Given the description of an element on the screen output the (x, y) to click on. 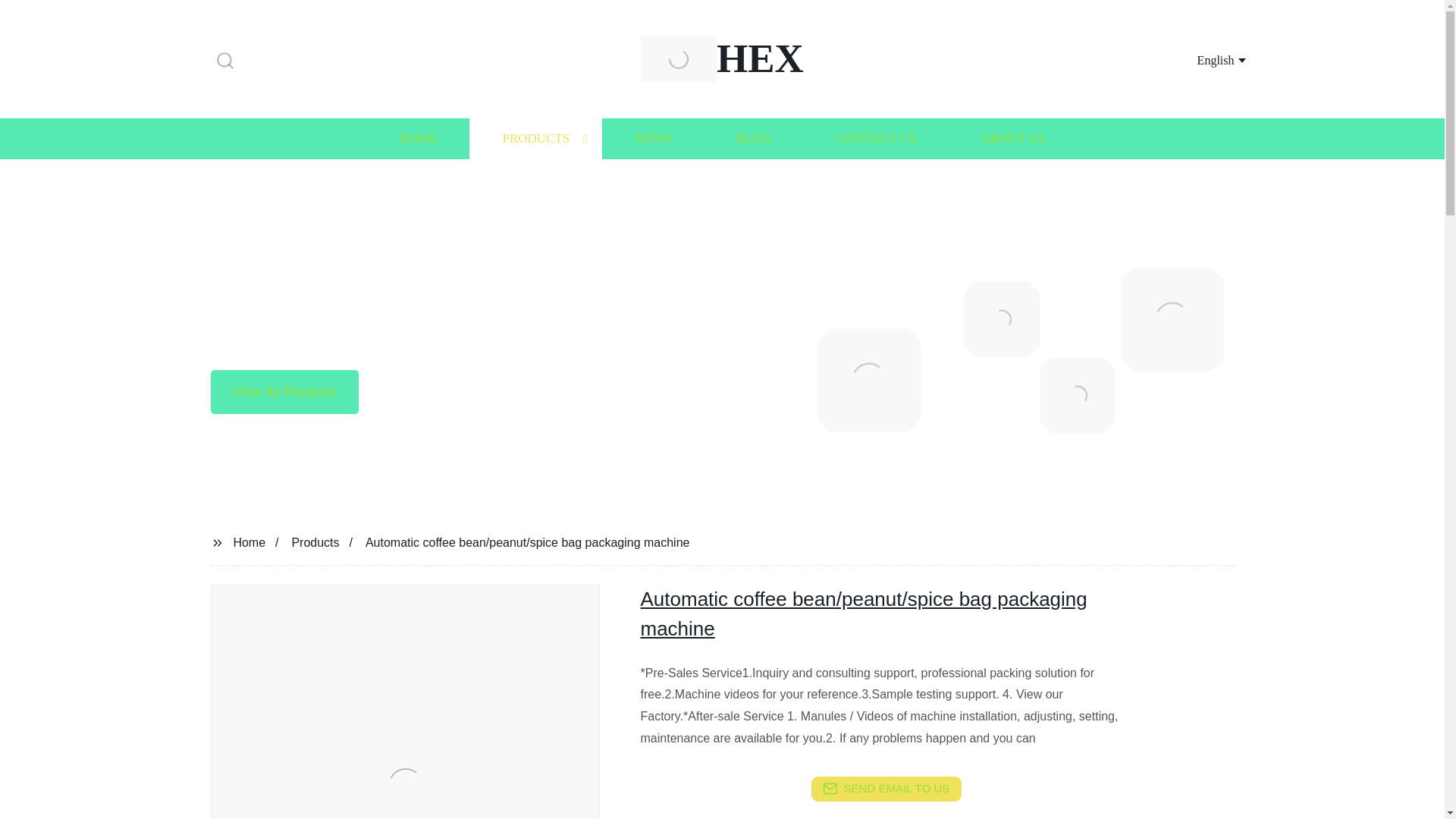
ABOUT US (1013, 137)
Home (248, 541)
English (1203, 59)
HOME (417, 137)
PRODUCTS (885, 788)
Products (535, 137)
